Given the description of an element on the screen output the (x, y) to click on. 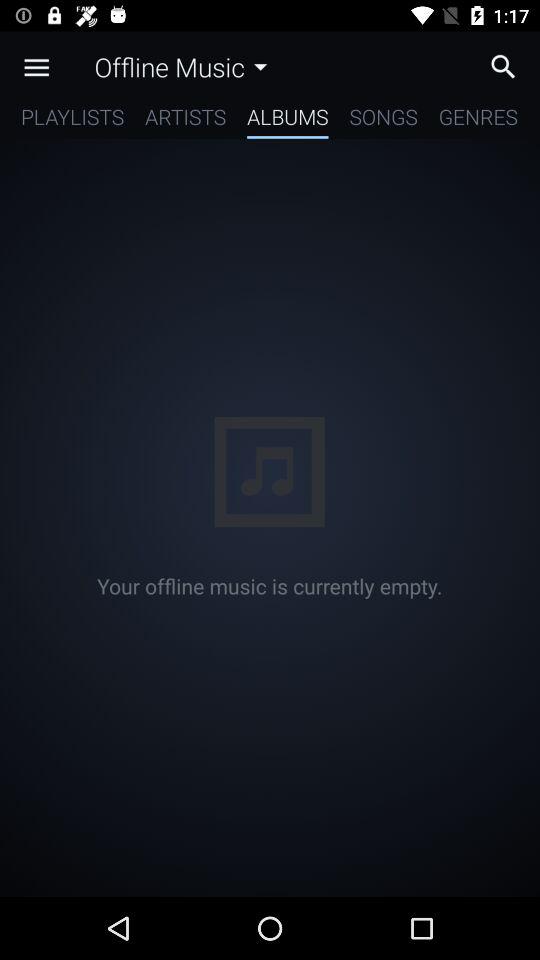
open item next to the songs app (287, 120)
